Given the description of an element on the screen output the (x, y) to click on. 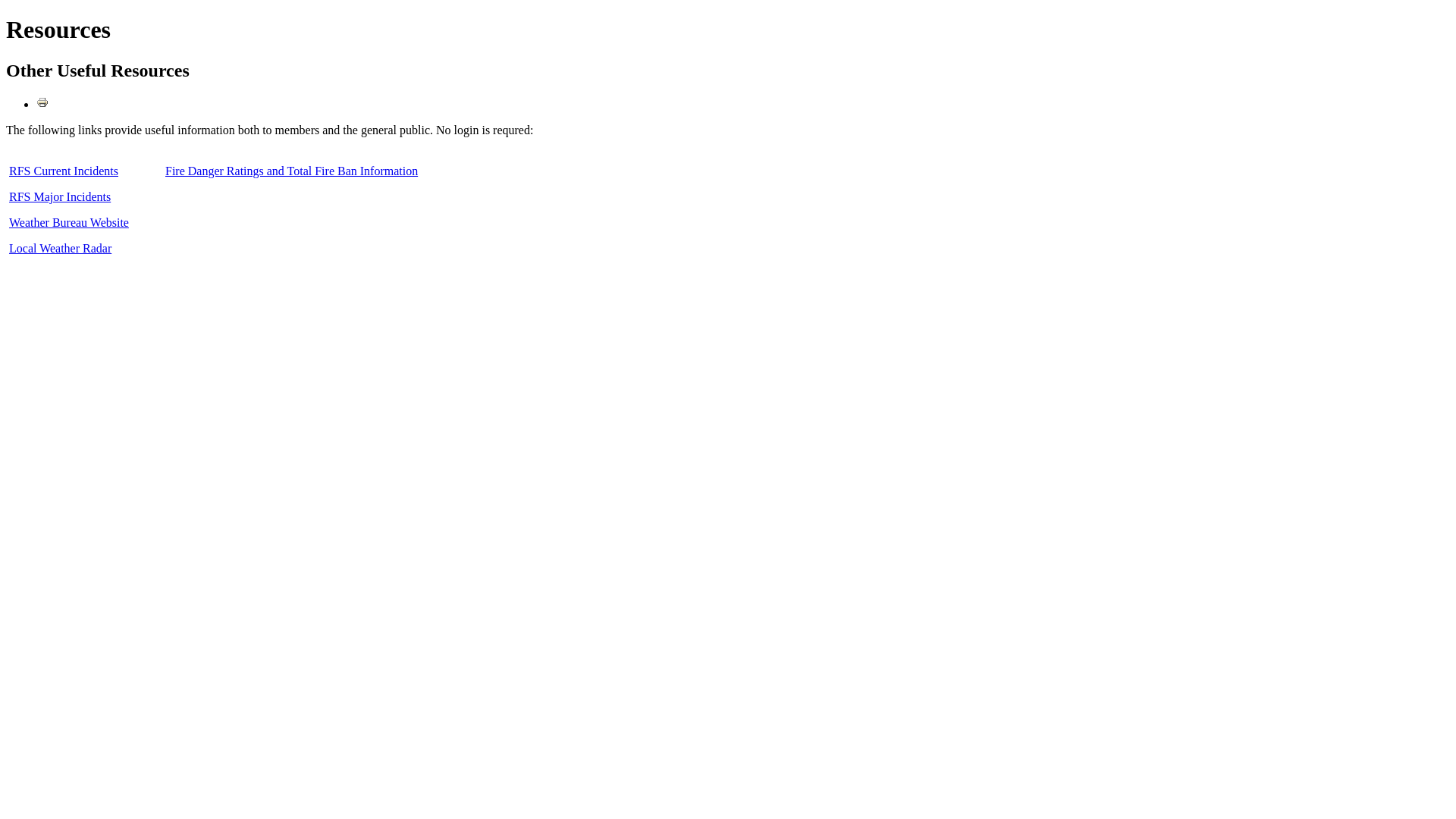
RFS Current Incidents Element type: text (63, 170)
Fire Danger Ratings and Total Fire Ban Information Element type: text (291, 170)
Local Weather Radar Element type: text (60, 247)
RFS Major Incidents Element type: text (59, 196)
Weather Bureau Website Element type: text (68, 222)
